Given the description of an element on the screen output the (x, y) to click on. 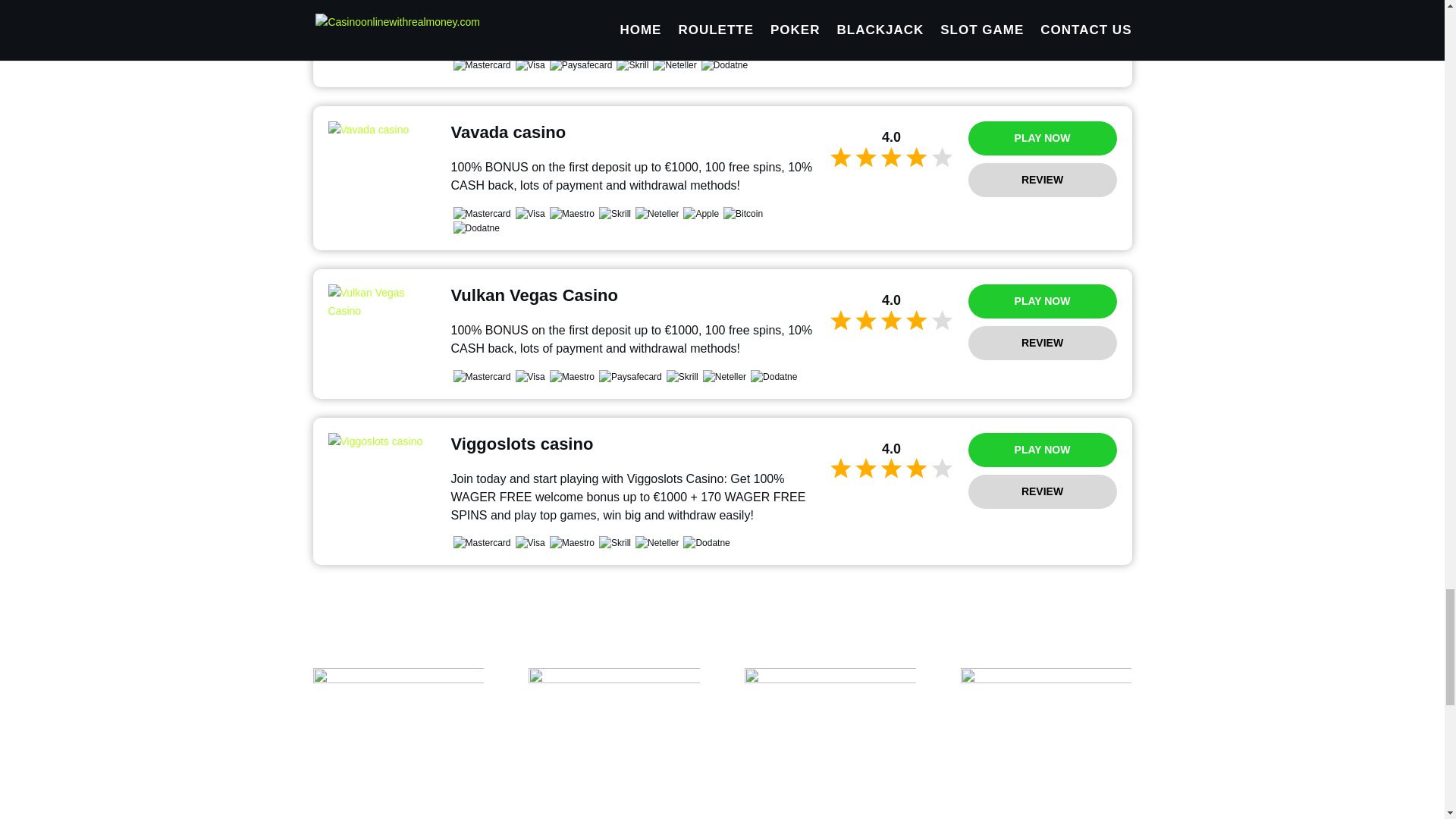
REVIEW (1042, 342)
PLAY NOW (1042, 301)
PLAY NOW (1042, 138)
REVIEW (1042, 179)
REVIEW (1042, 6)
